Given the description of an element on the screen output the (x, y) to click on. 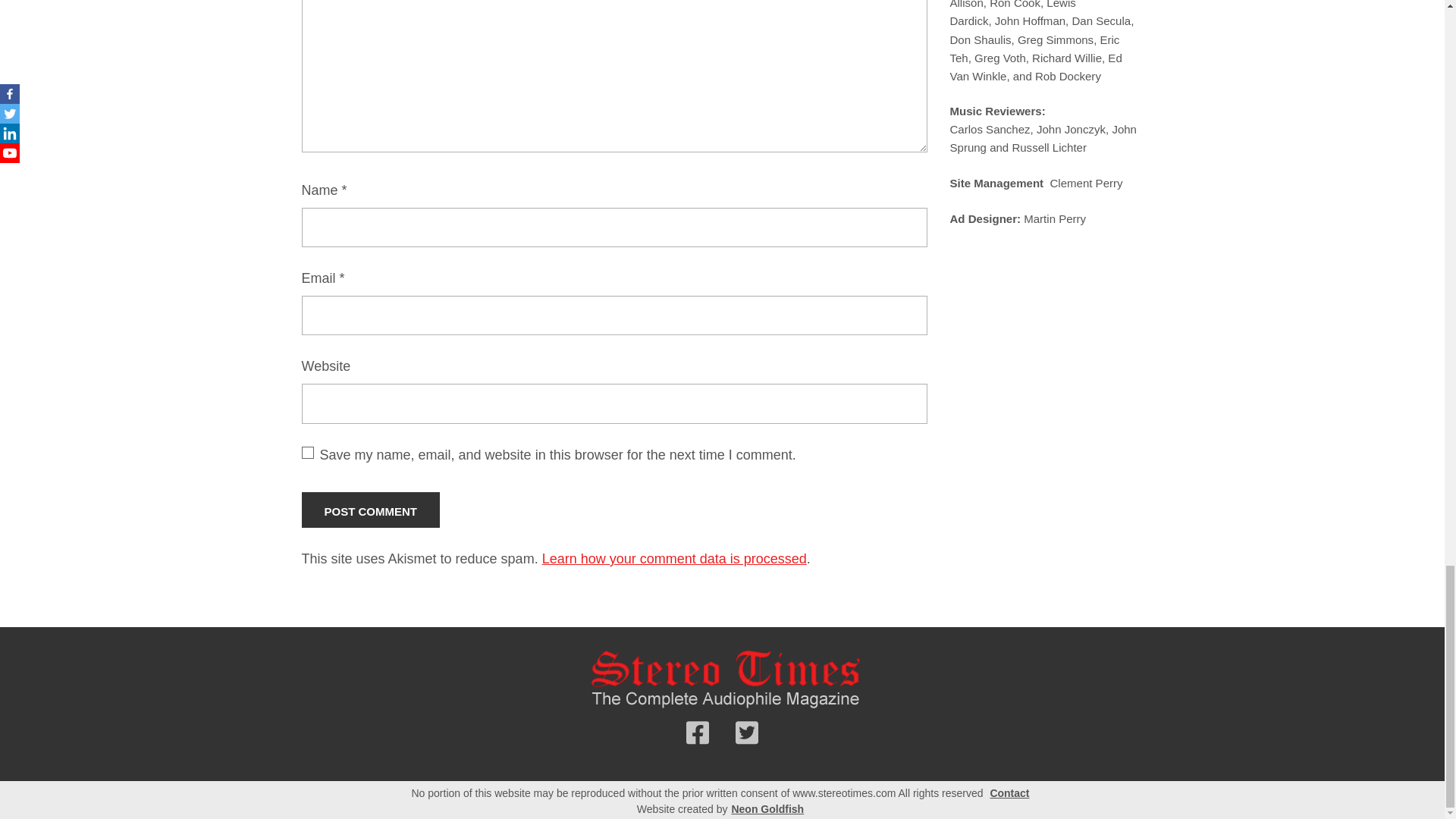
Contact (1008, 792)
Post Comment (371, 509)
Learn how your comment data is processed (673, 558)
Neon Goldfish (767, 809)
Post Comment (371, 509)
